Given the description of an element on the screen output the (x, y) to click on. 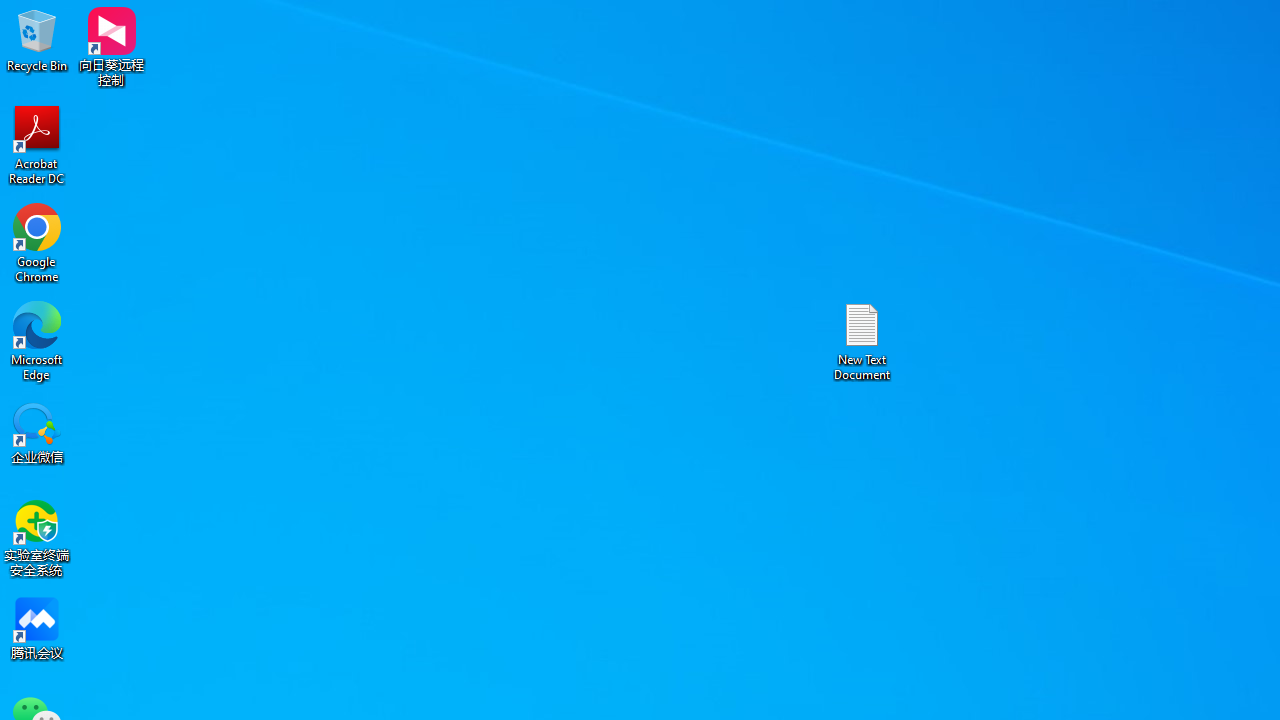
Acrobat Reader DC (37, 144)
Google Chrome (37, 242)
Microsoft Edge (37, 340)
New Text Document (861, 340)
Recycle Bin (37, 39)
